Given the description of an element on the screen output the (x, y) to click on. 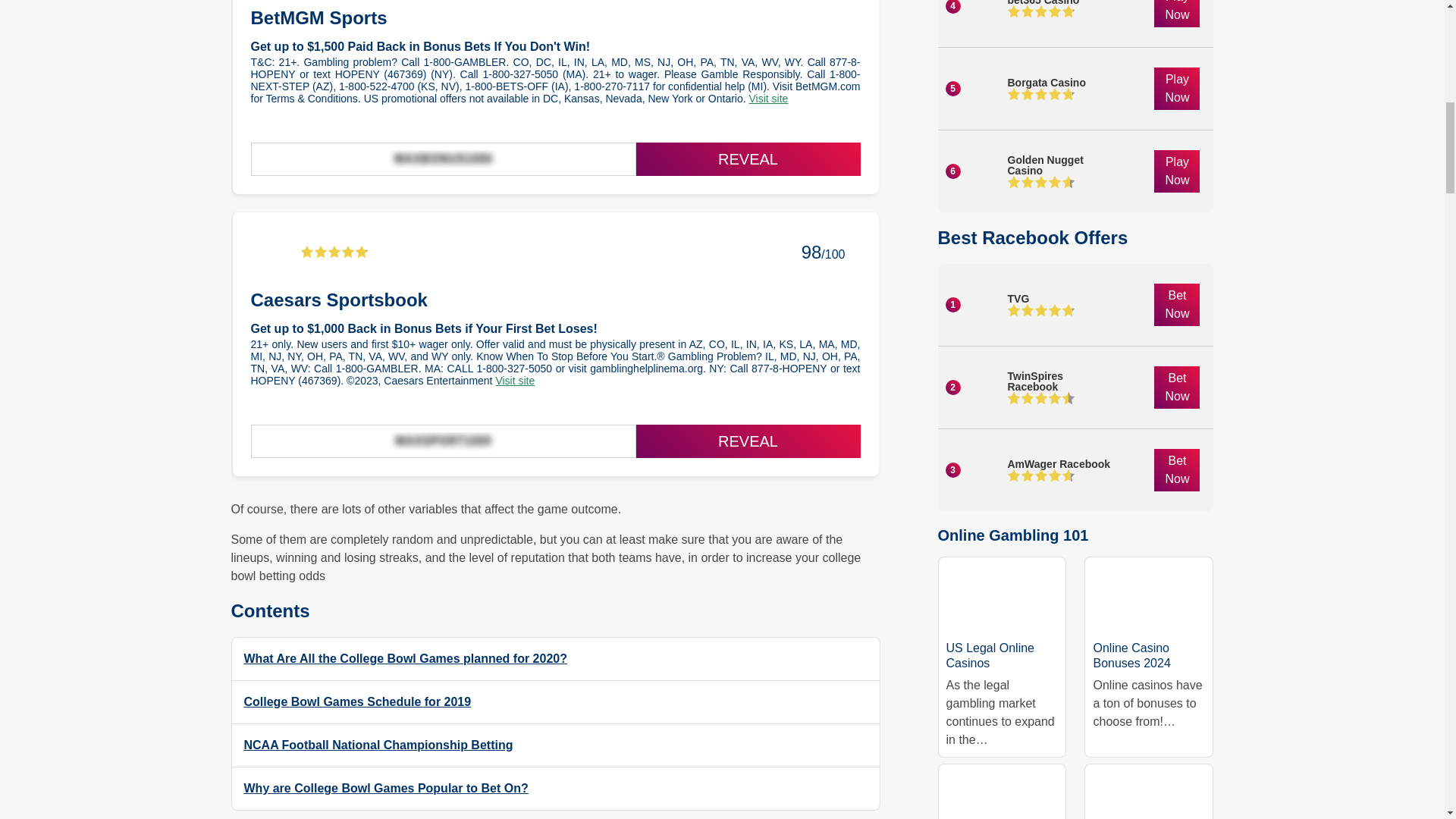
MAXBONUS1000 (442, 159)
MAXSPORT1000 (442, 441)
